Given the description of an element on the screen output the (x, y) to click on. 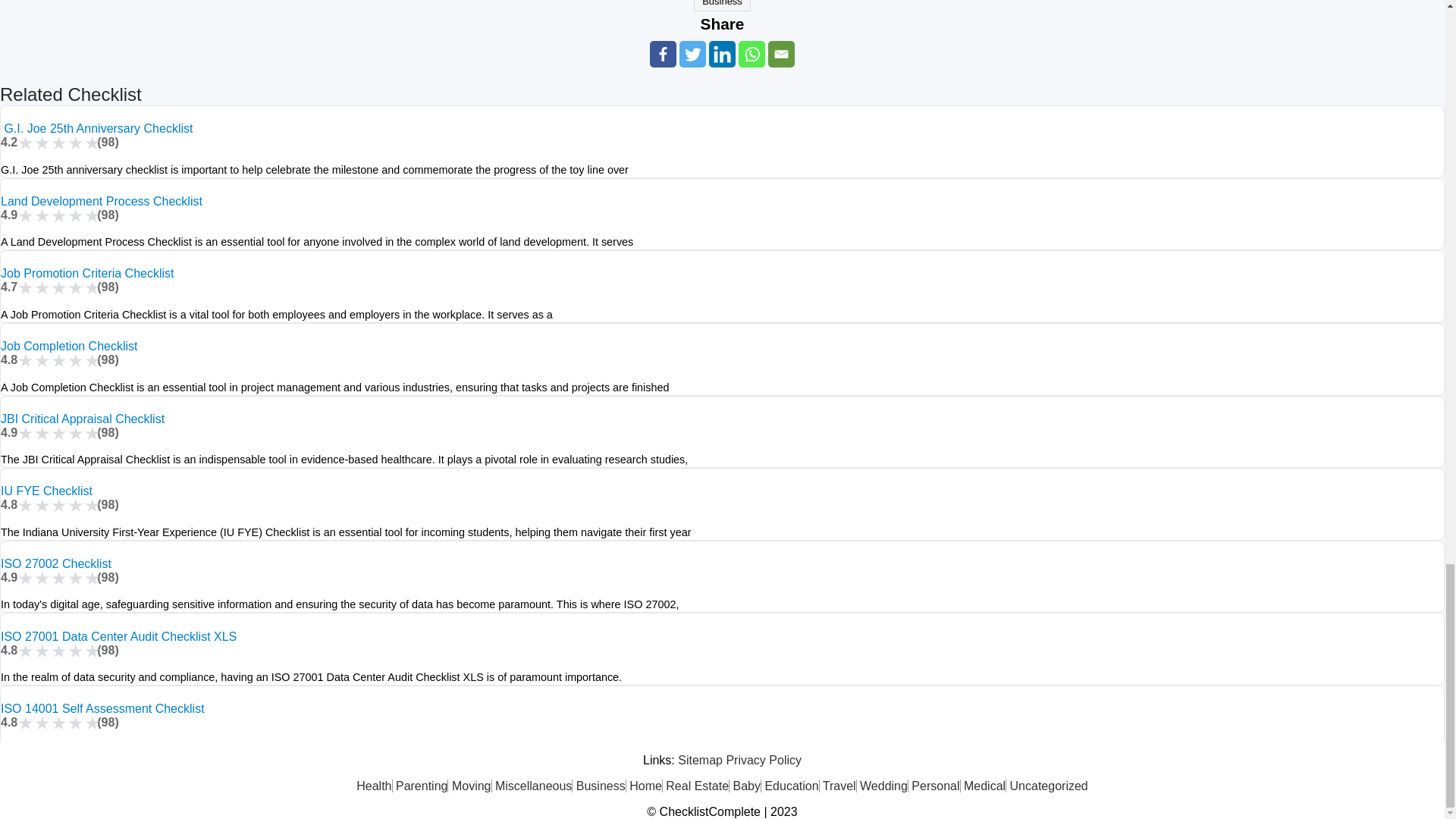
Email (781, 53)
 G.I. Joe 25th Anniversary Checklist (96, 128)
Whatsapp (751, 53)
Job Completion Checklist (69, 345)
ISO 14001 Self Assessment Checklist (103, 707)
Twitter (692, 53)
Facebook (663, 53)
Parenting (422, 785)
Business (722, 5)
Moving (471, 785)
Miscellaneous (533, 785)
Wedding (884, 785)
Real Estate (697, 785)
ISO 27002 Checklist (56, 563)
Sitemap (700, 759)
